Given the description of an element on the screen output the (x, y) to click on. 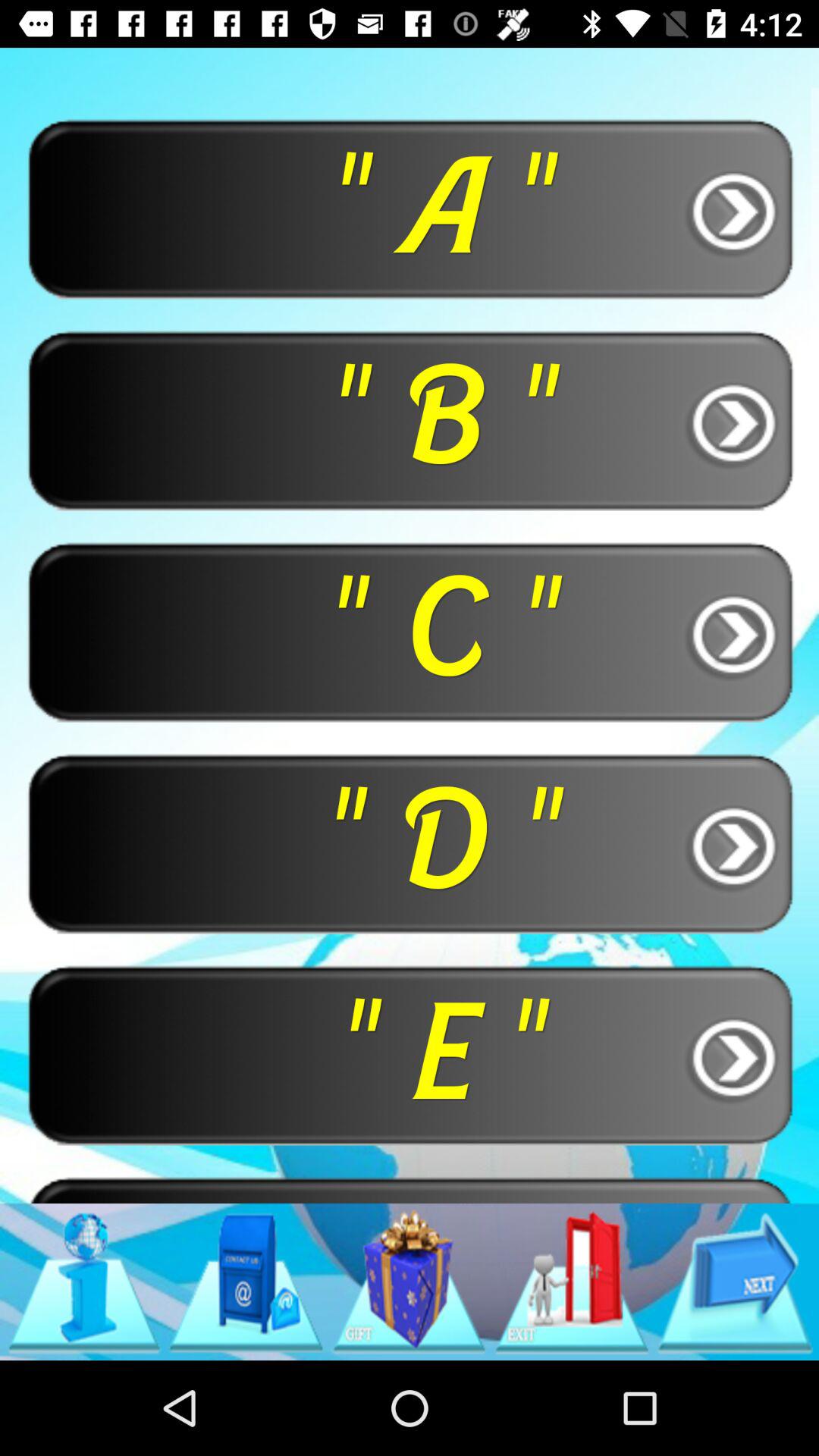
flip until " d " item (409, 842)
